Given the description of an element on the screen output the (x, y) to click on. 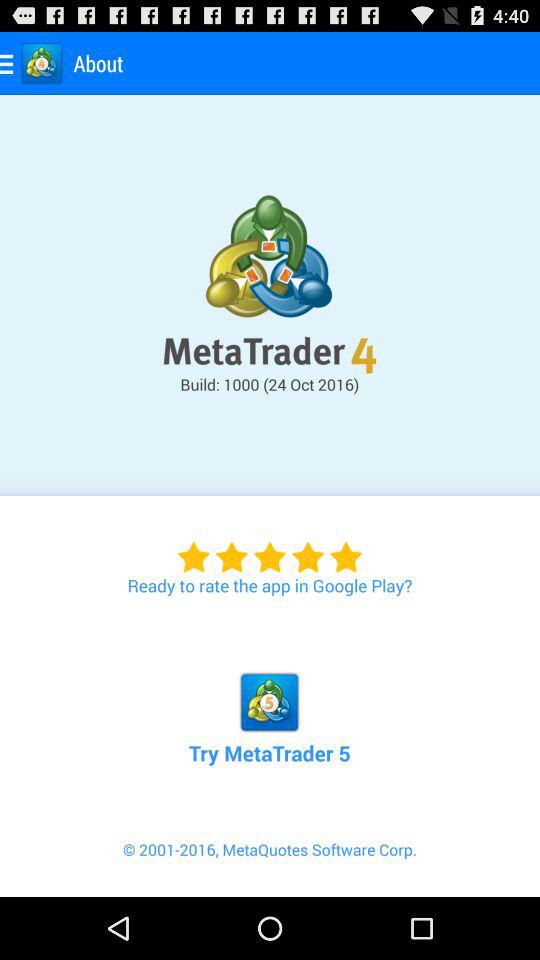
turn off icon below the try metatrader 5 item (269, 867)
